Given the description of an element on the screen output the (x, y) to click on. 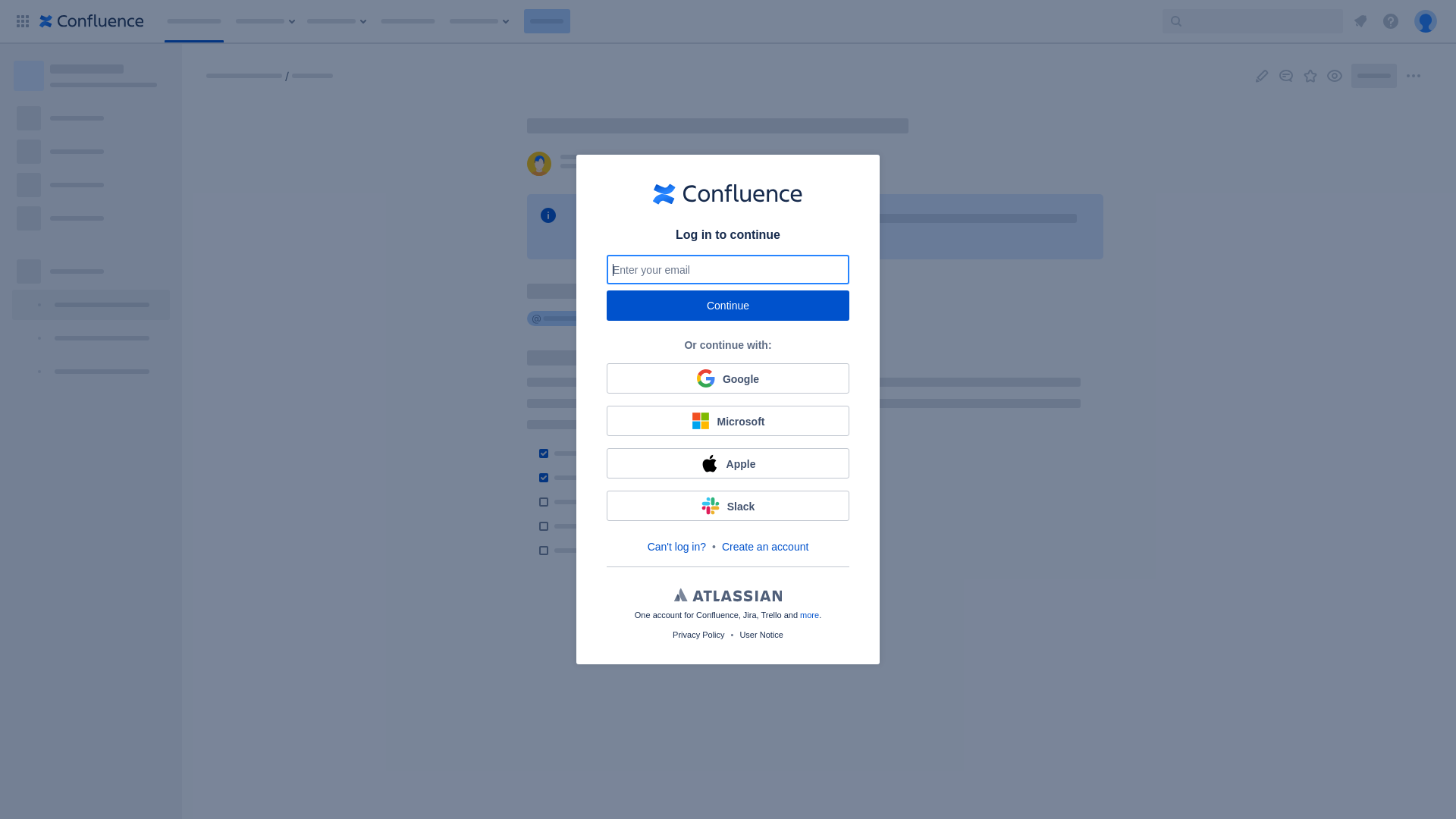
Privacy Policy Element type: text (698, 634)
Continue Element type: text (727, 305)
Can't log in? Element type: text (676, 546)
User Notice Element type: text (760, 634)
Microsoft Element type: text (727, 420)
Slack Element type: text (727, 505)
Create an account Element type: text (764, 546)
more Element type: text (809, 614)
Apple Element type: text (727, 463)
Google Element type: text (727, 378)
